Given the description of an element on the screen output the (x, y) to click on. 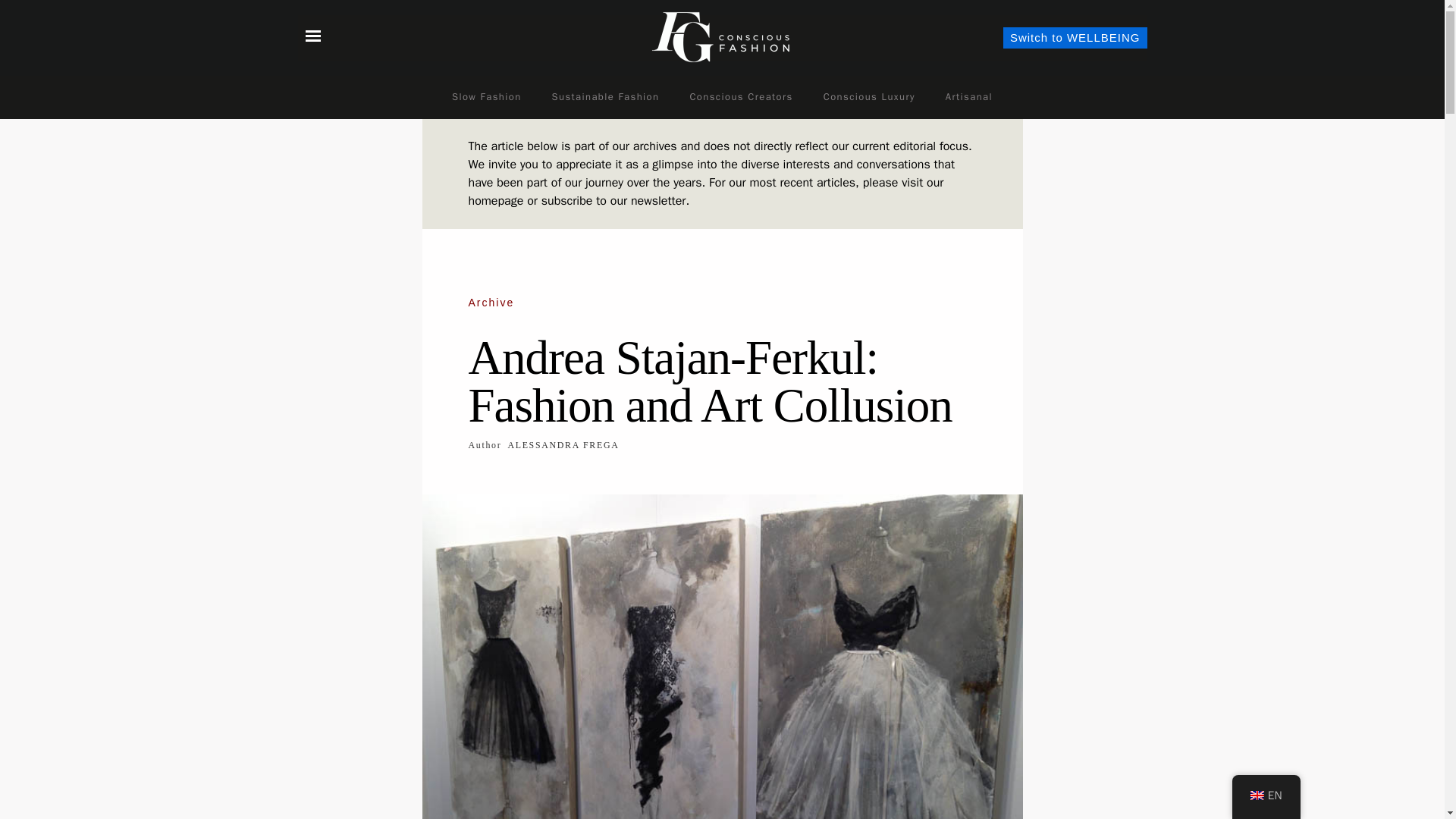
Conscious Luxury (869, 96)
Switch to WELLBEING (1075, 37)
Slow Fashion (486, 96)
Conscious Creators (741, 96)
EN (1265, 795)
Sustainable Fashion (606, 96)
Artisanal (968, 96)
